Given the description of an element on the screen output the (x, y) to click on. 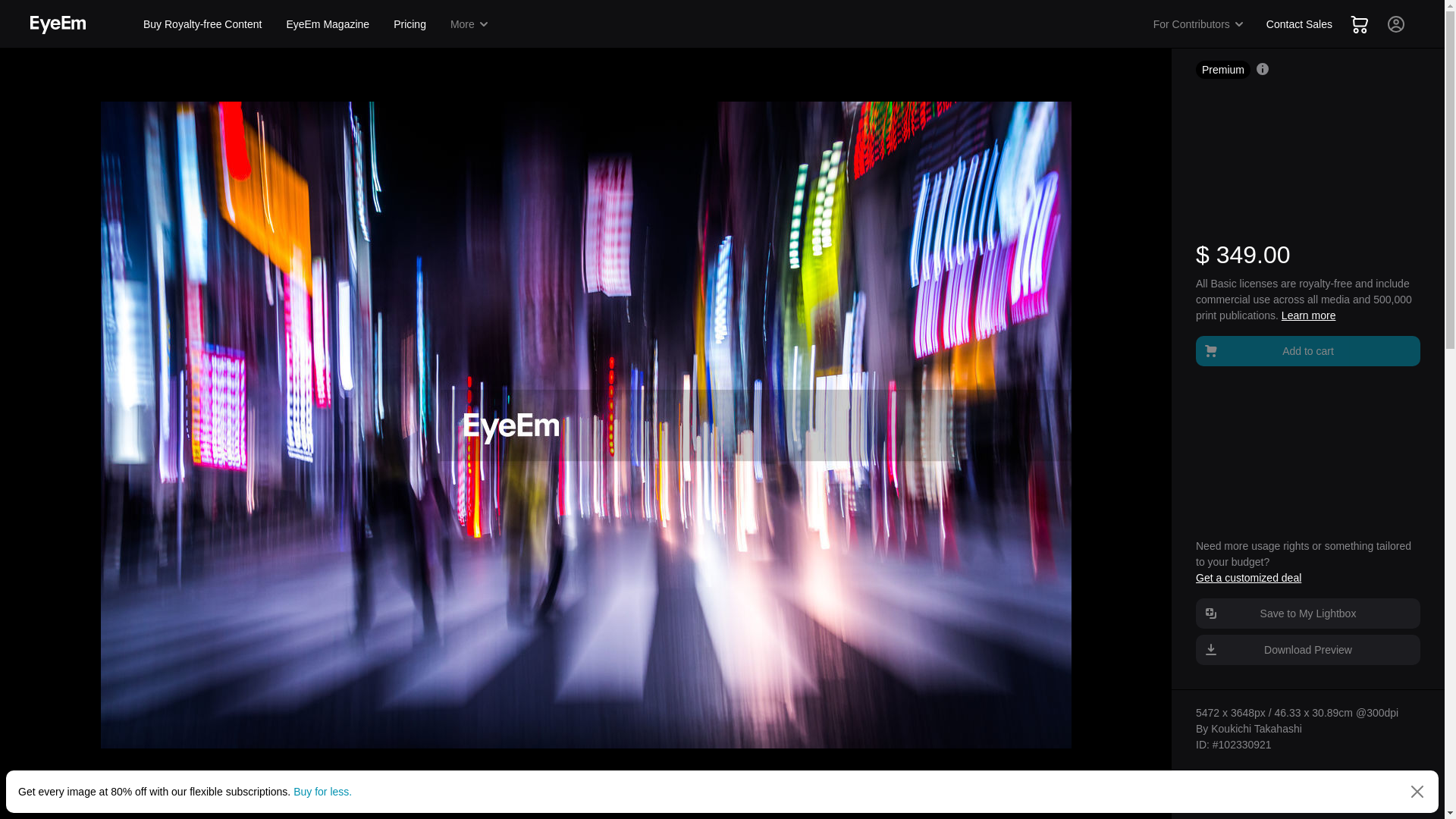
Learn more (1308, 315)
EyeEm Magazine (327, 24)
By Koukichi Takahashi (1248, 727)
Buy Royalty-free Content (201, 24)
Pricing (409, 24)
For Contributors (1198, 24)
Download Preview (1308, 649)
Contact Sales (1298, 24)
Add to cart (1308, 349)
Cart (1358, 24)
